Given the description of an element on the screen output the (x, y) to click on. 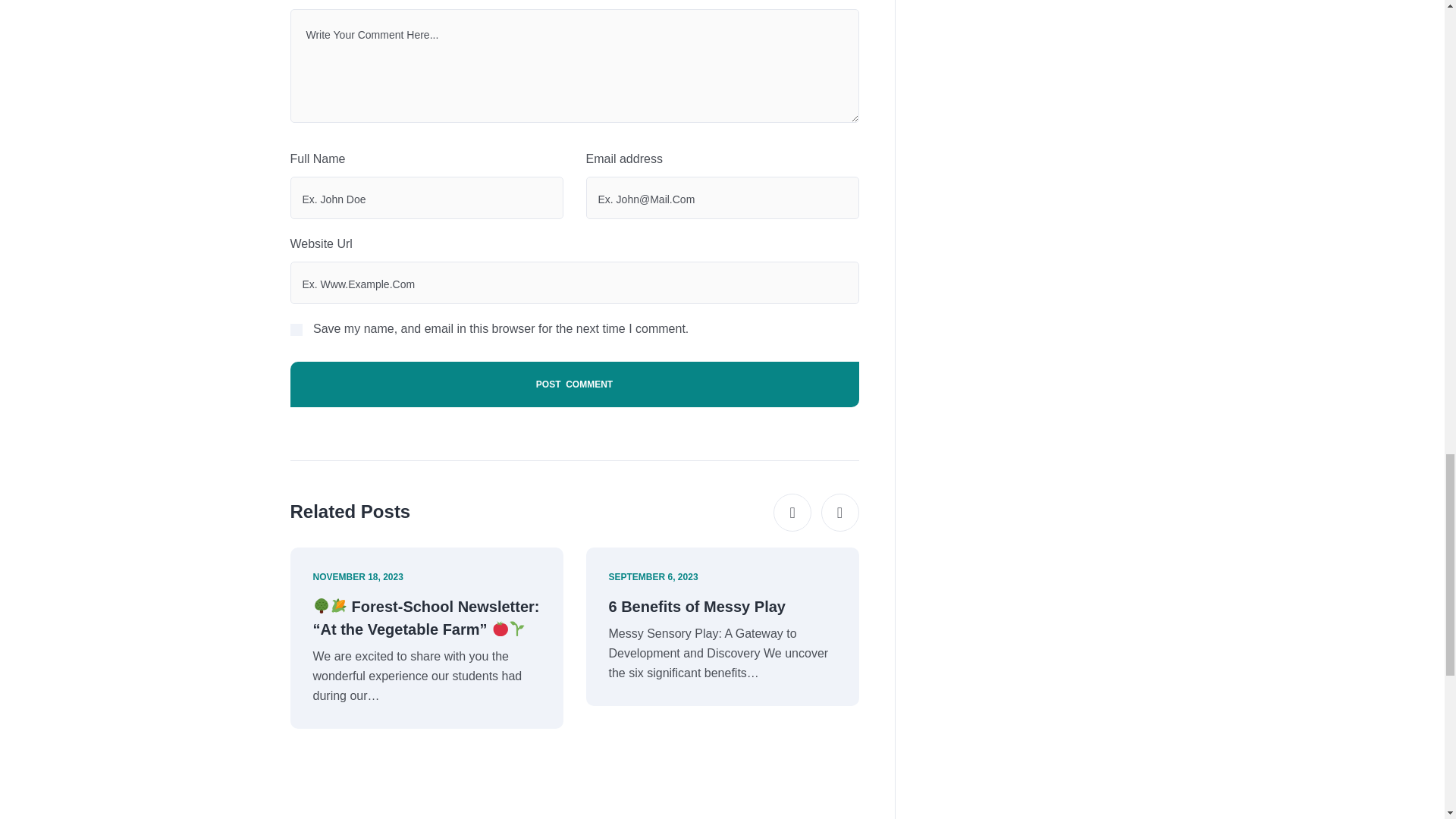
Post  comment (574, 384)
